Given the description of an element on the screen output the (x, y) to click on. 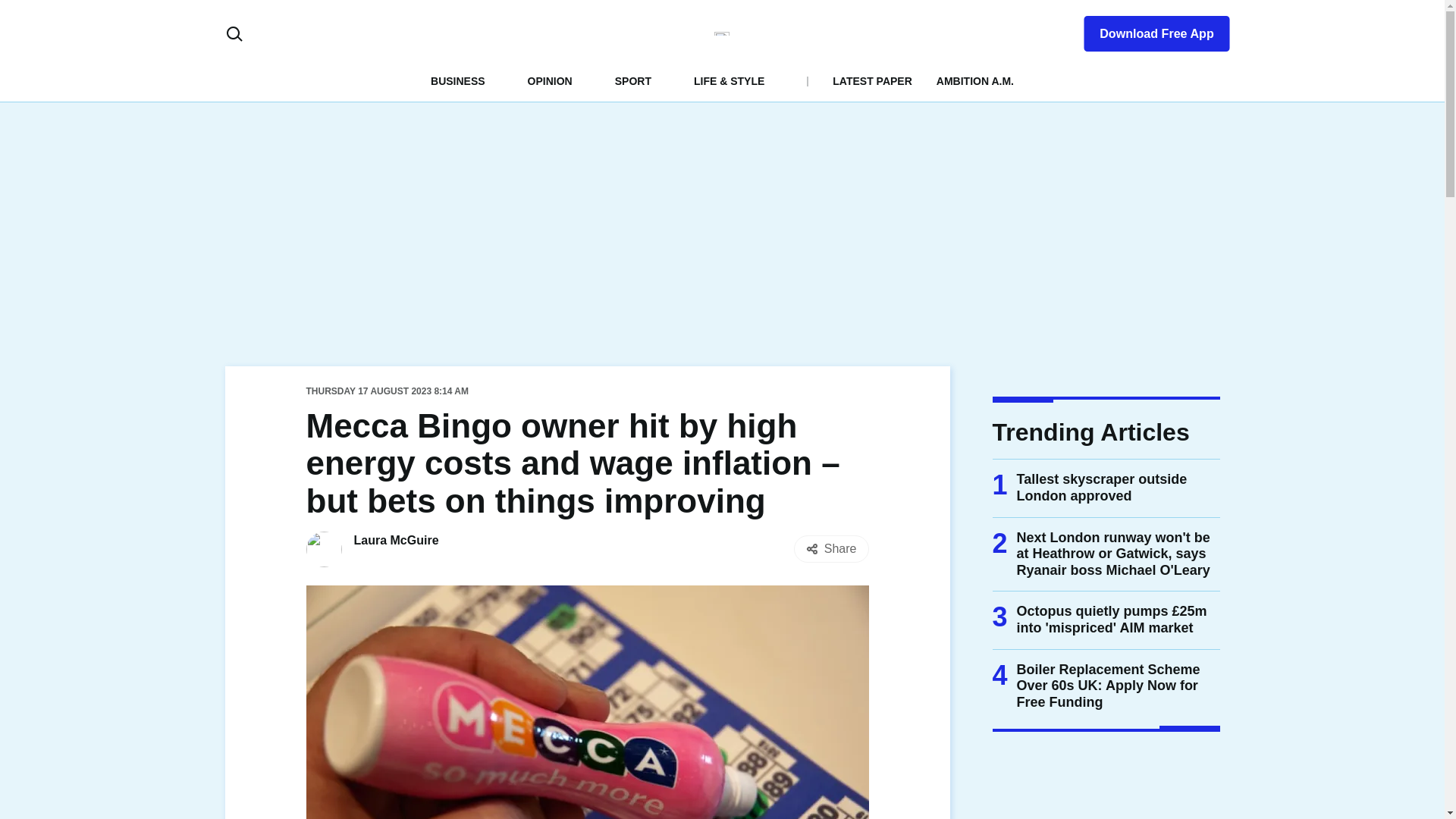
SPORT (632, 80)
BUSINESS (457, 80)
CityAM (721, 33)
Download Free App (1146, 30)
OPINION (549, 80)
